Given the description of an element on the screen output the (x, y) to click on. 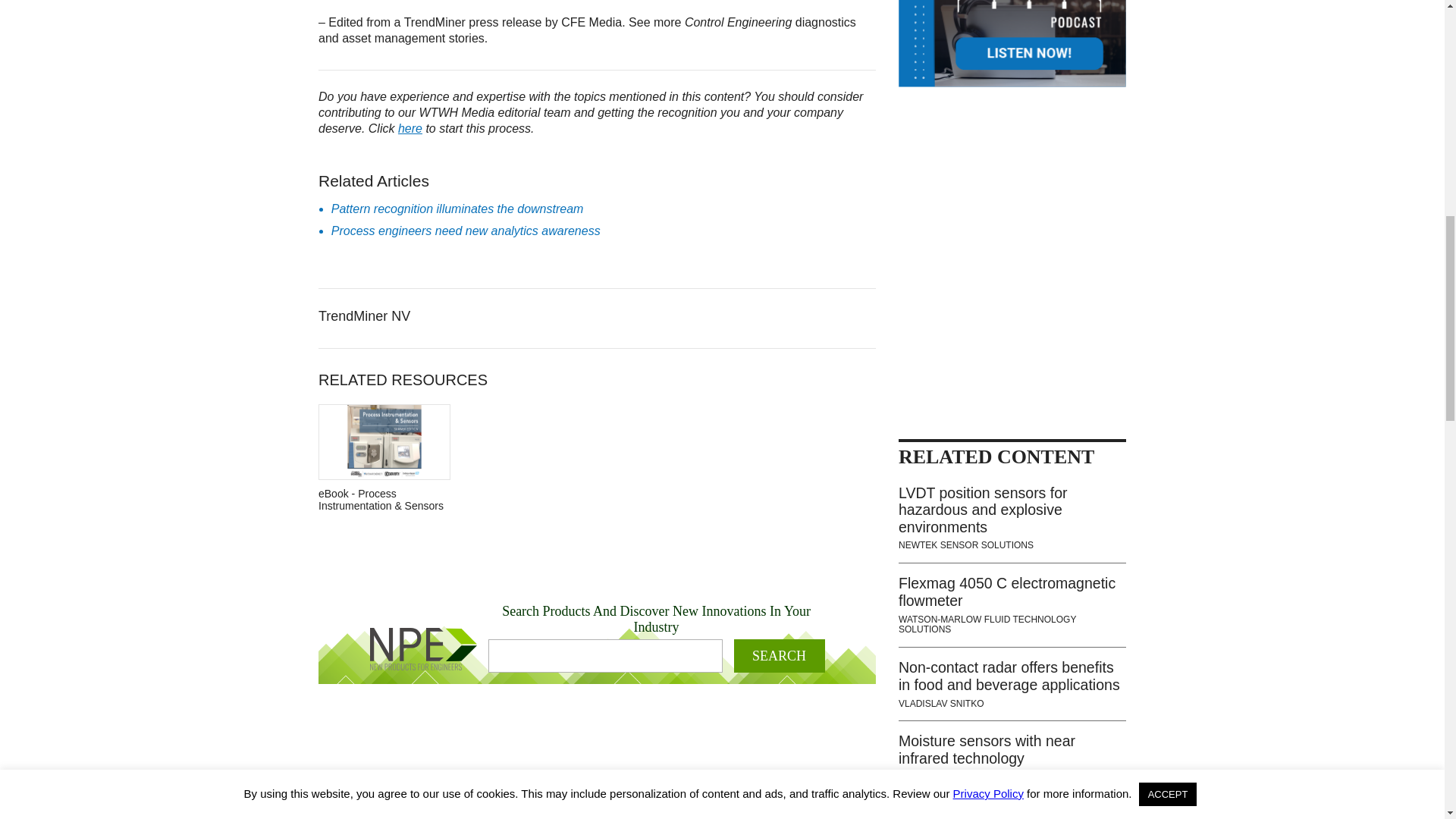
How to Contribute (409, 128)
